Given the description of an element on the screen output the (x, y) to click on. 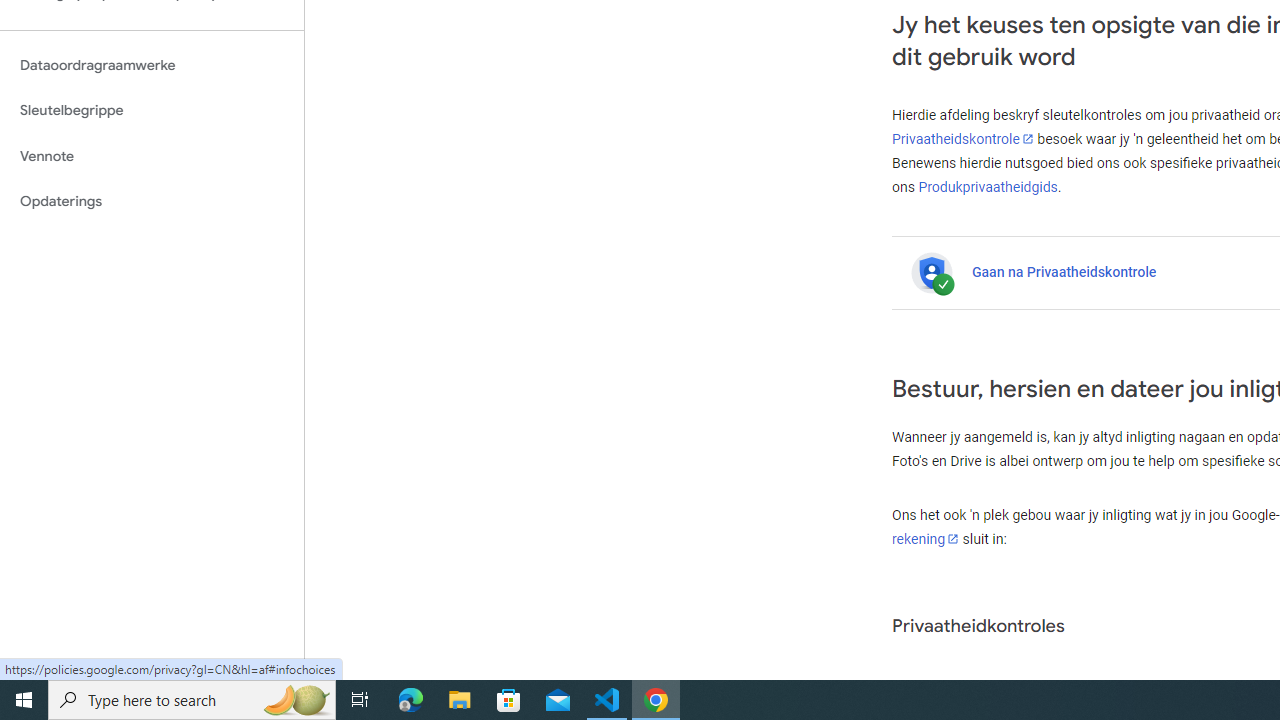
Opdaterings (152, 201)
Gaan na Privaatheidskontrole (1064, 271)
Vennote (152, 156)
Sleutelbegrippe (152, 110)
Privaatheidskontrole (963, 139)
Produkprivaatheidgids (987, 186)
Dataoordragraamwerke (152, 65)
